Given the description of an element on the screen output the (x, y) to click on. 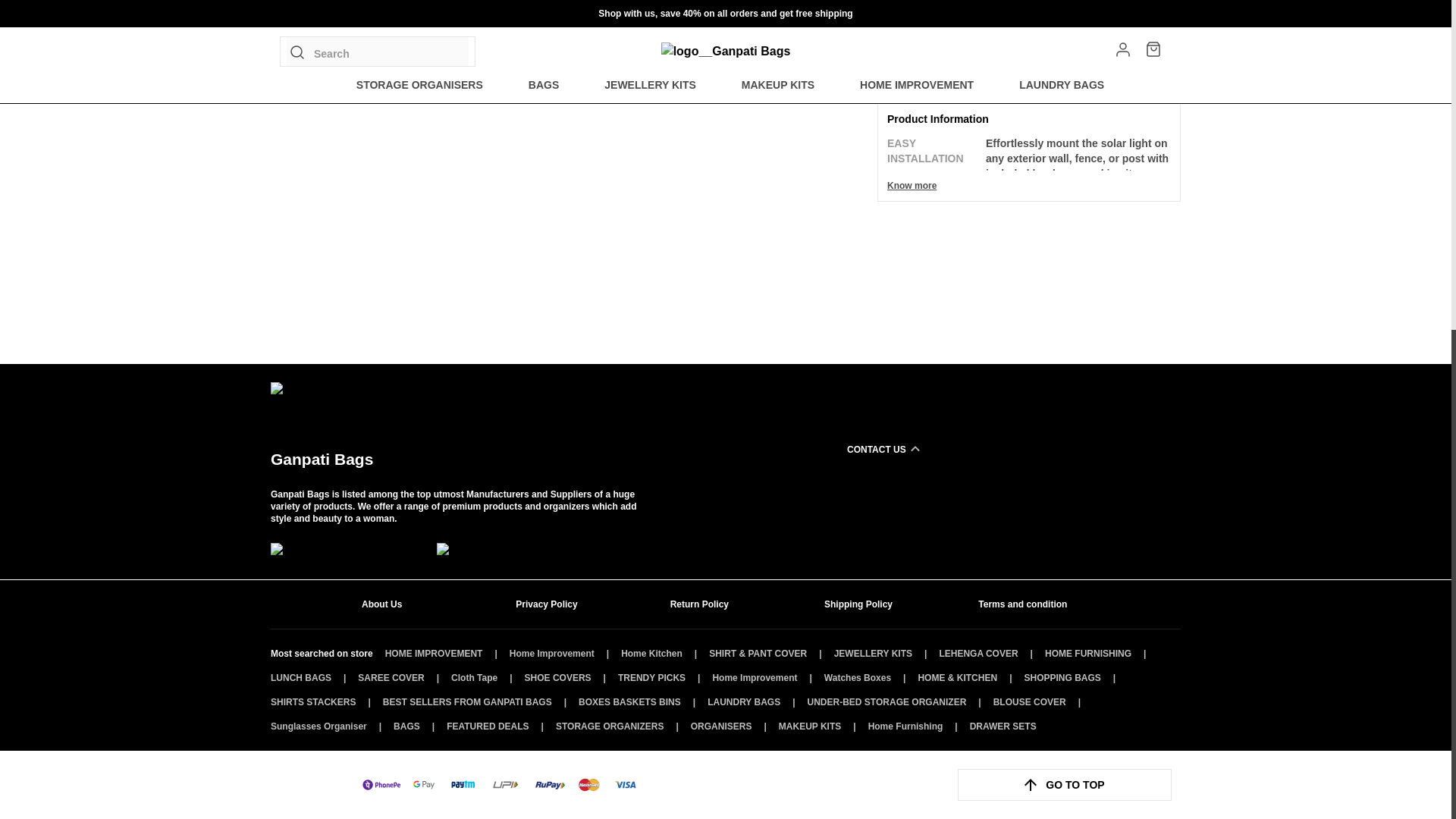
Home Kitchen (651, 653)
Home Improvement (551, 653)
HOME IMPROVEMENT (434, 653)
Privacy Policy (571, 604)
About Us (417, 604)
Terms and condition (1033, 604)
Return Policy (725, 604)
LUNCH BAGS (300, 677)
JEWELLERY KITS (873, 653)
HOME FURNISHING (1088, 653)
Shipping Policy (880, 604)
LEHENGA COVER (978, 653)
SAREE COVER (390, 677)
